Given the description of an element on the screen output the (x, y) to click on. 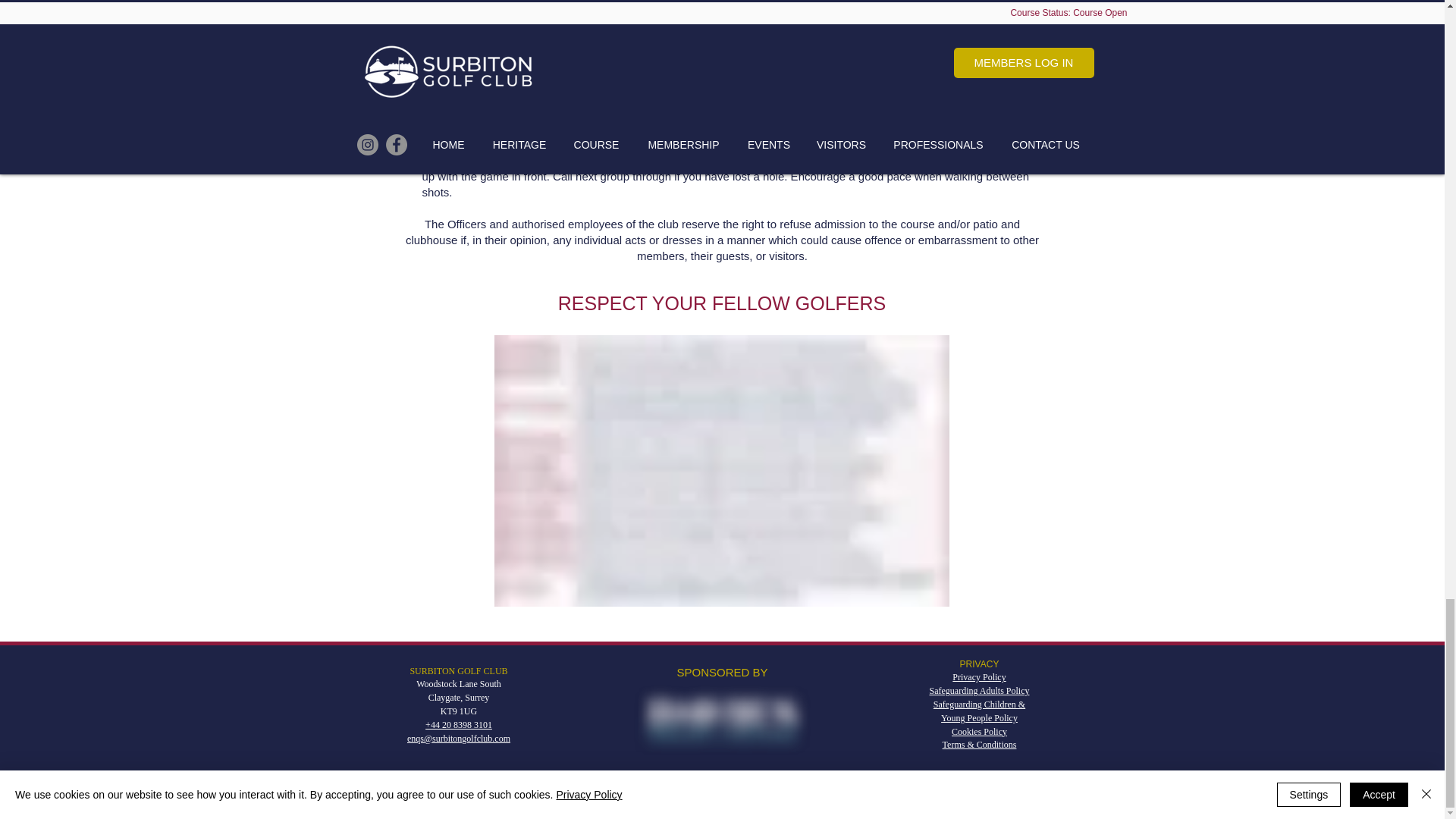
Young People Policy (978, 717)
Privacy Policy (979, 676)
Safeguarding Adults Policy (979, 690)
